Given the description of an element on the screen output the (x, y) to click on. 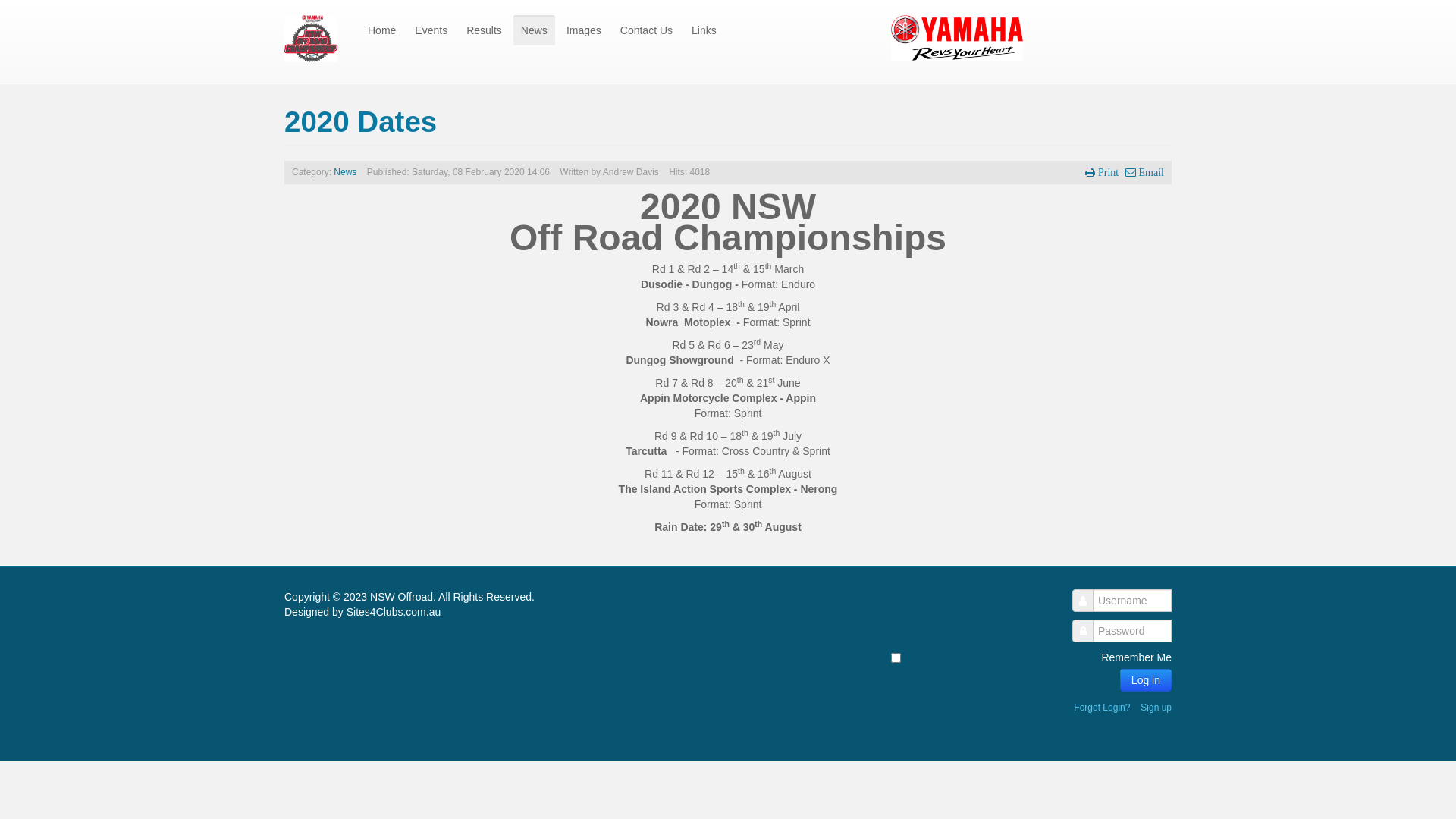
2020 Dates Element type: text (360, 121)
Contact Us Element type: text (646, 30)
News Element type: text (344, 171)
Sign up Element type: text (1155, 707)
Email Element type: text (1144, 171)
Password Element type: hover (1082, 630)
Results Element type: text (483, 30)
Links Element type: text (704, 30)
Home Element type: text (381, 30)
Forgot Login? Element type: text (1101, 707)
Images Element type: text (583, 30)
Log in Element type: text (1145, 679)
News Element type: text (534, 30)
Username Element type: hover (1082, 600)
Print Element type: text (1101, 171)
Events Element type: text (431, 30)
